Given the description of an element on the screen output the (x, y) to click on. 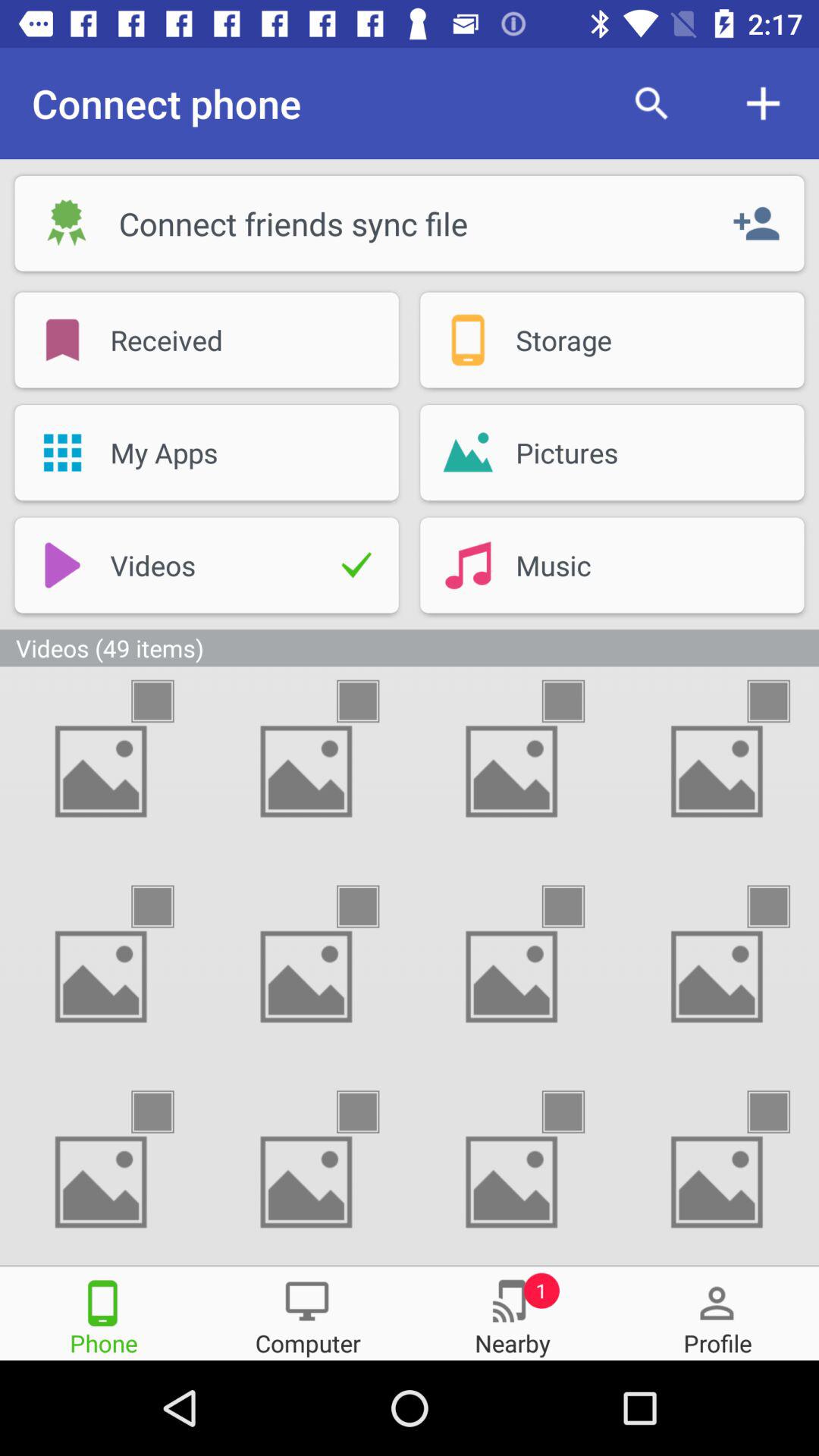
click to photo option (166, 1111)
